Given the description of an element on the screen output the (x, y) to click on. 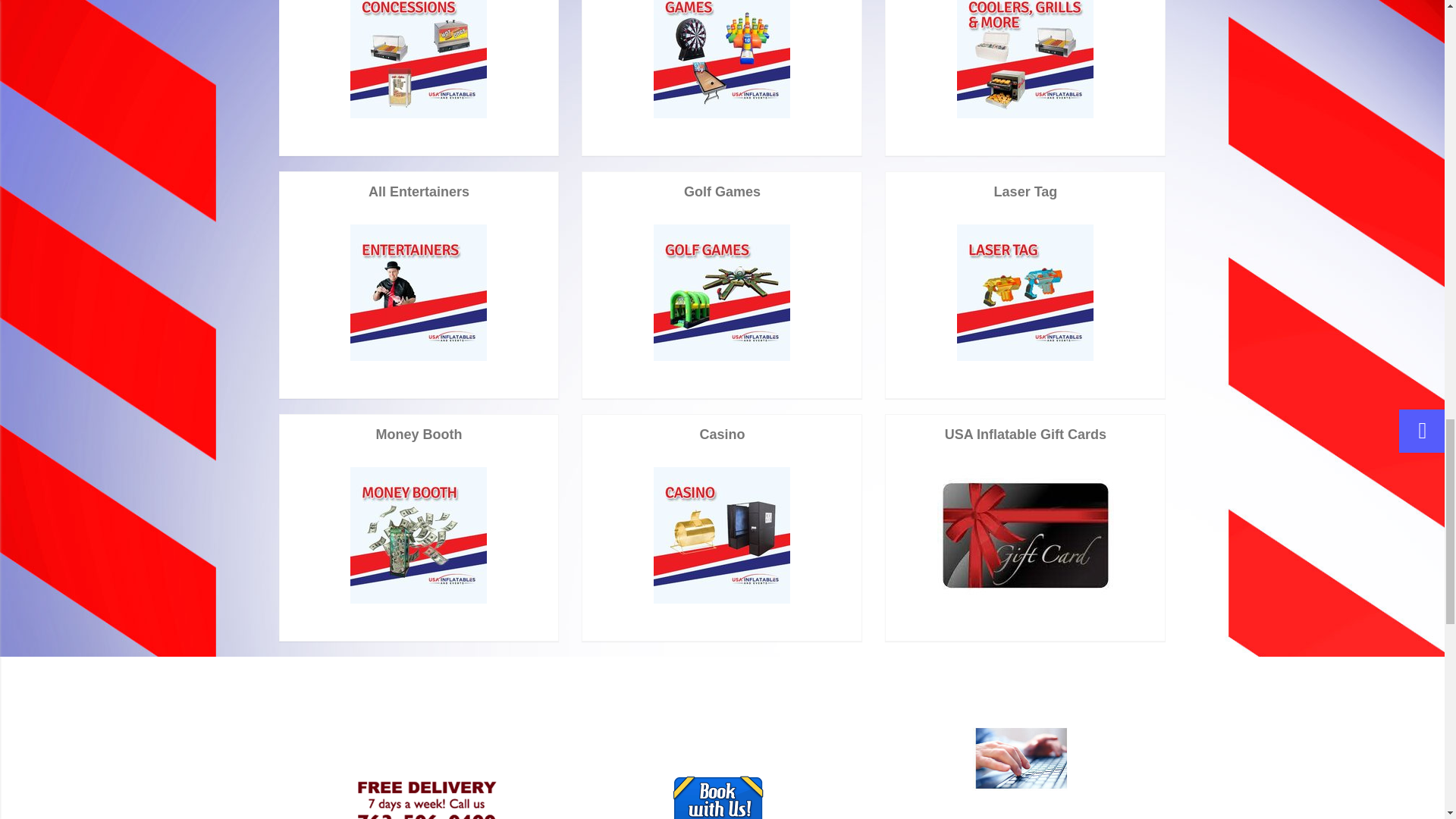
All Entertainers (418, 292)
Concessions (418, 58)
Games (721, 58)
Casino (721, 534)
Golf Games (721, 292)
Coolers - Grills and More (1024, 58)
Money Booth (418, 534)
Laser Tag (1024, 292)
